Given the description of an element on the screen output the (x, y) to click on. 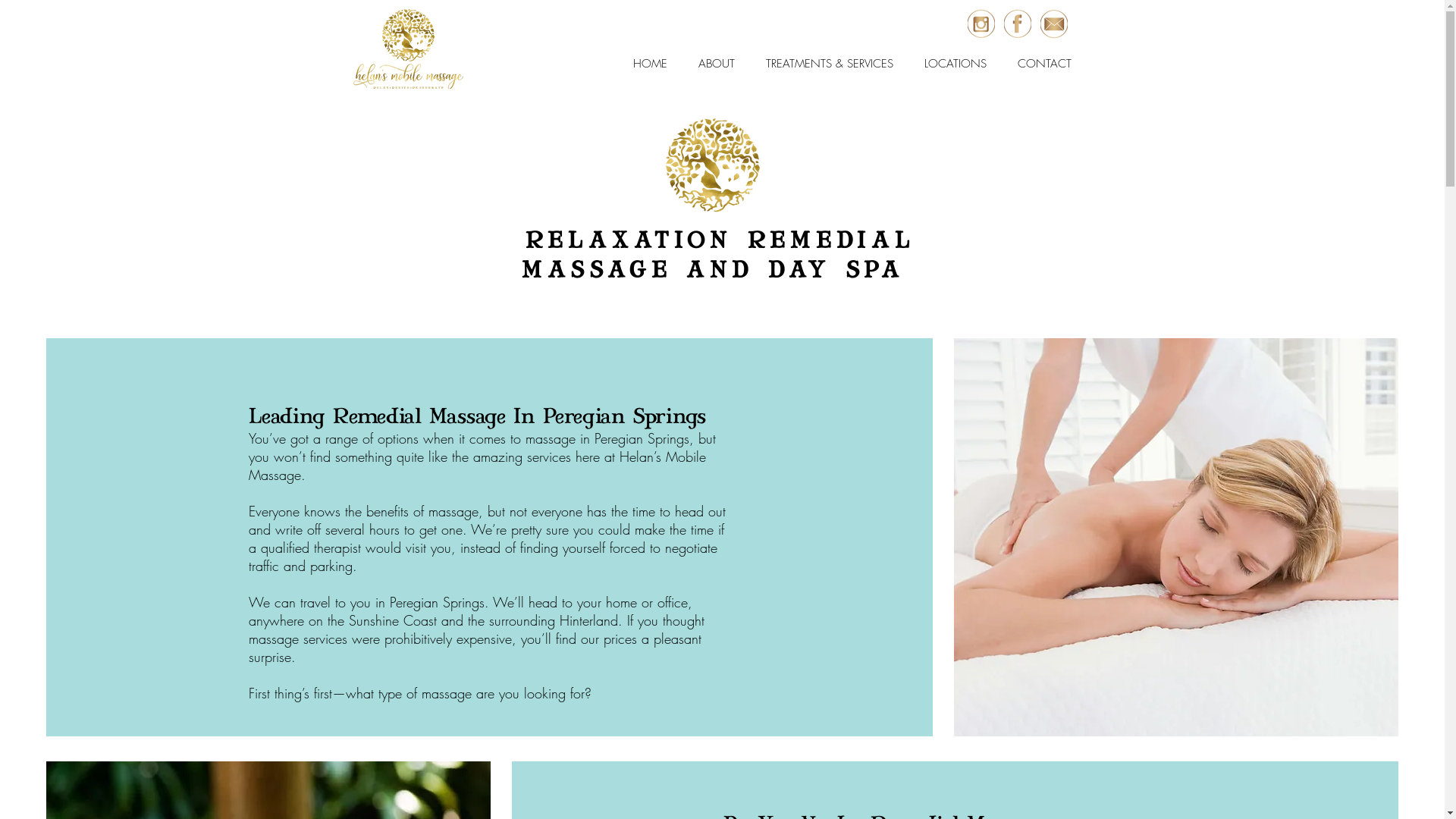
TREATMENTS & SERVICES Element type: text (829, 63)
ABOUT Element type: text (715, 63)
CONTACT Element type: text (1044, 63)
HOME Element type: text (649, 63)
